Given the description of an element on the screen output the (x, y) to click on. 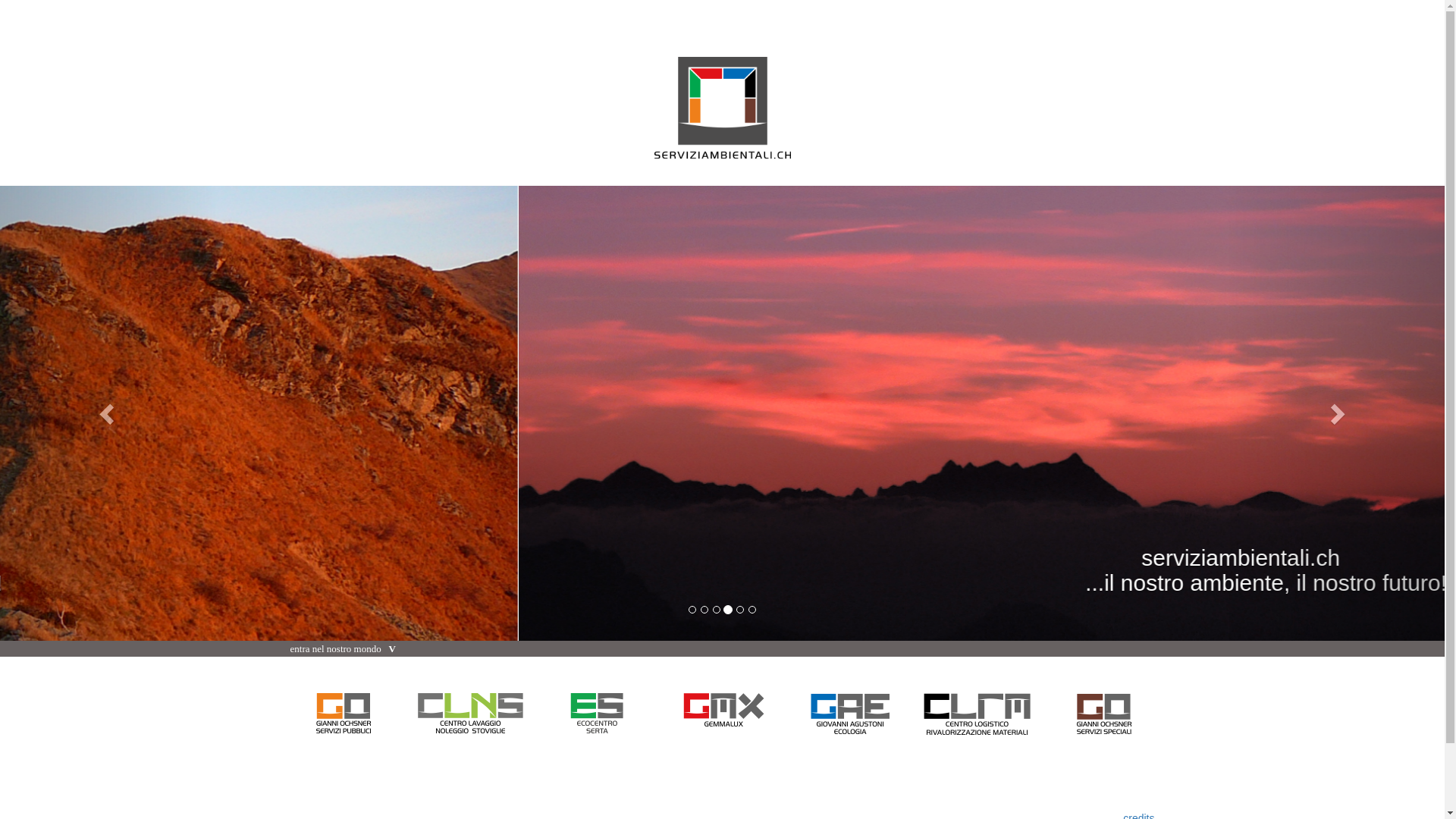
Next Element type: text (1335, 412)
Previous Element type: text (108, 412)
